Given the description of an element on the screen output the (x, y) to click on. 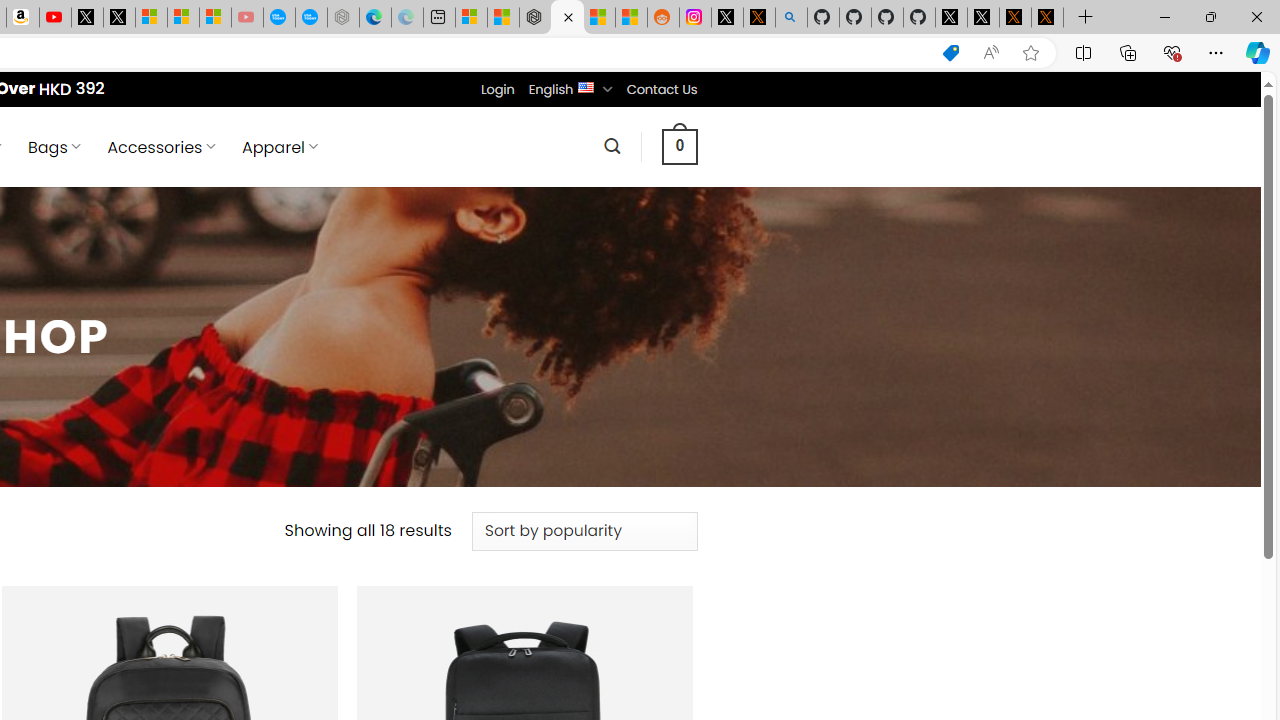
Log in to X / X (727, 17)
X Privacy Policy (1047, 17)
Close tab (568, 16)
Shanghai, China Weather trends | Microsoft Weather (630, 17)
Opinion: Op-Ed and Commentary - USA TODAY (279, 17)
Login (497, 89)
English (586, 86)
Close (1256, 16)
Shop order (584, 530)
Minimize (1164, 16)
Contact Us (661, 89)
